Given the description of an element on the screen output the (x, y) to click on. 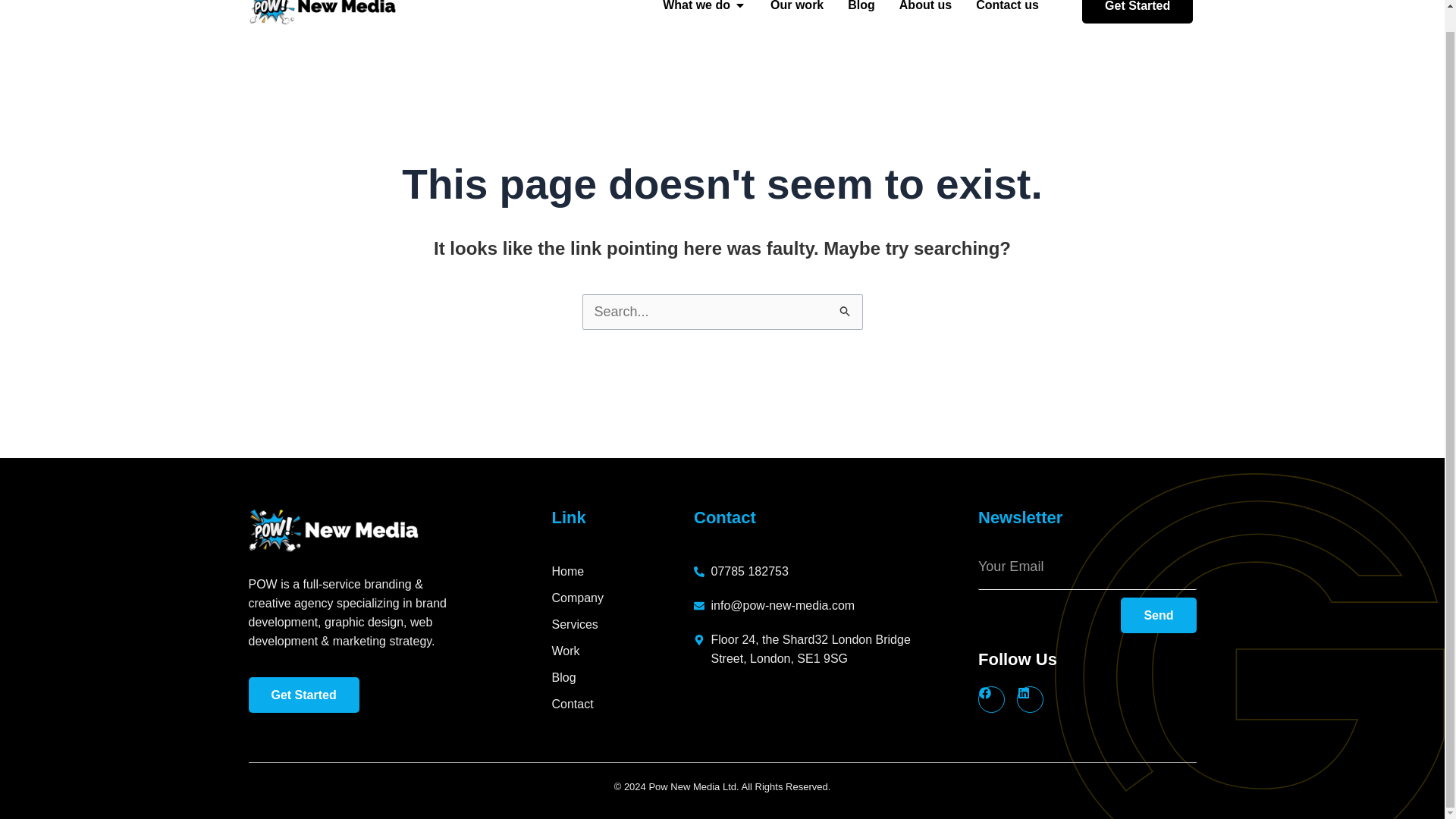
Company (622, 597)
Search (844, 313)
About us (925, 7)
Blog (622, 677)
Services (622, 624)
Work (622, 650)
Blog (861, 7)
Our work (797, 7)
What we do (696, 7)
07785 182753 (807, 570)
Home (622, 570)
Open What we do (739, 7)
Search (844, 313)
Get Started (303, 694)
Search (844, 313)
